Given the description of an element on the screen output the (x, y) to click on. 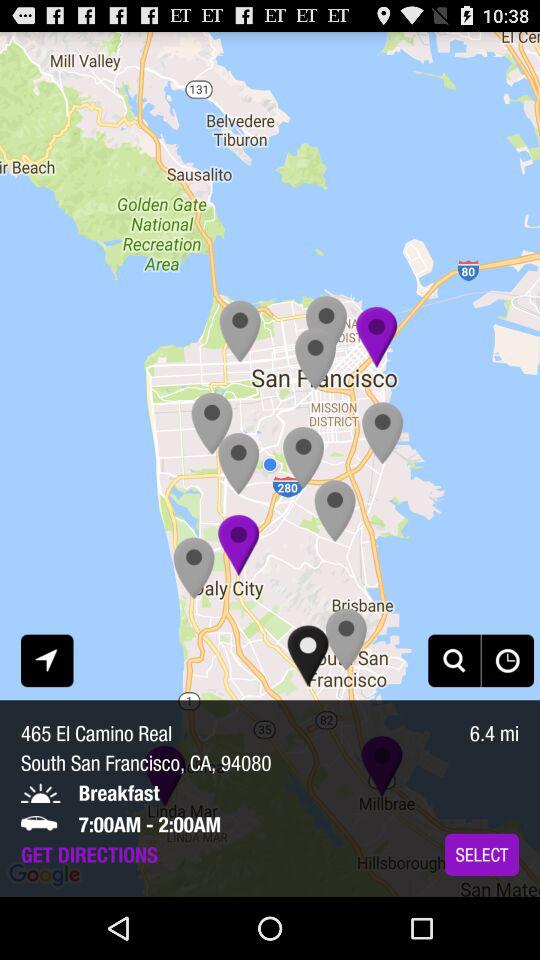
flip to select item (482, 854)
